Given the description of an element on the screen output the (x, y) to click on. 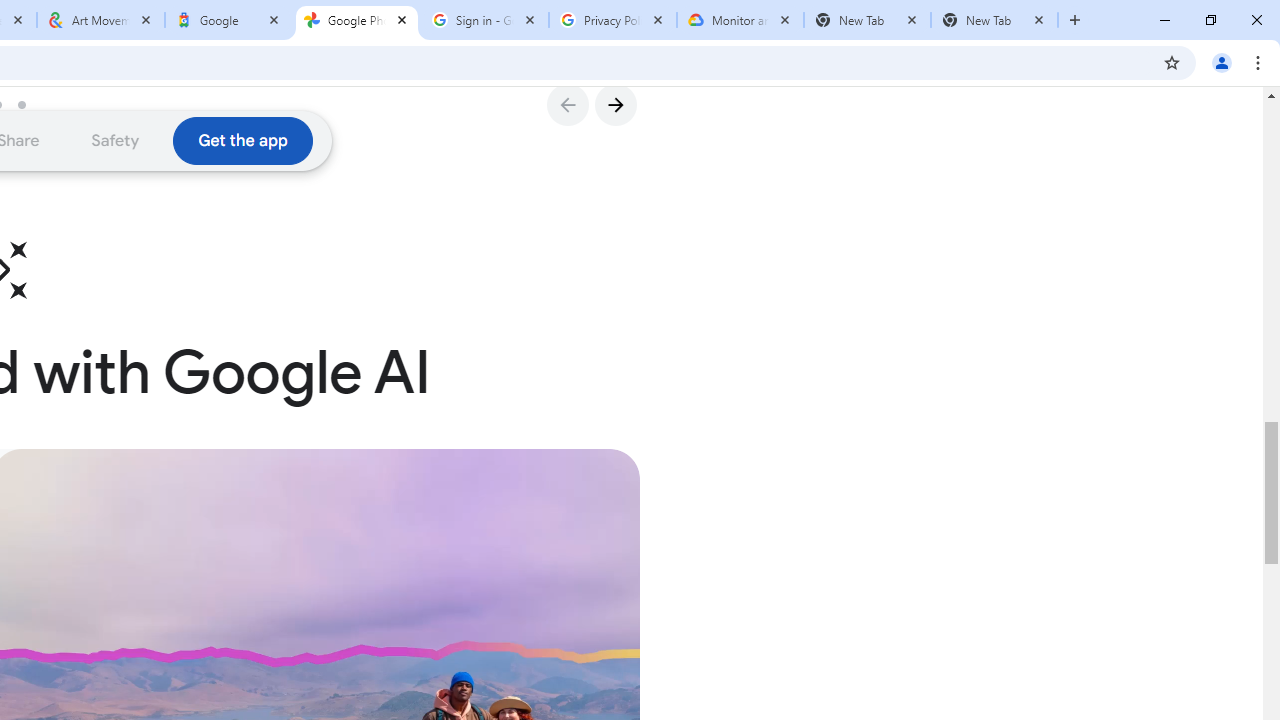
Go to Previous Slide (567, 104)
Download the Google Photos app (242, 140)
